Given the description of an element on the screen output the (x, y) to click on. 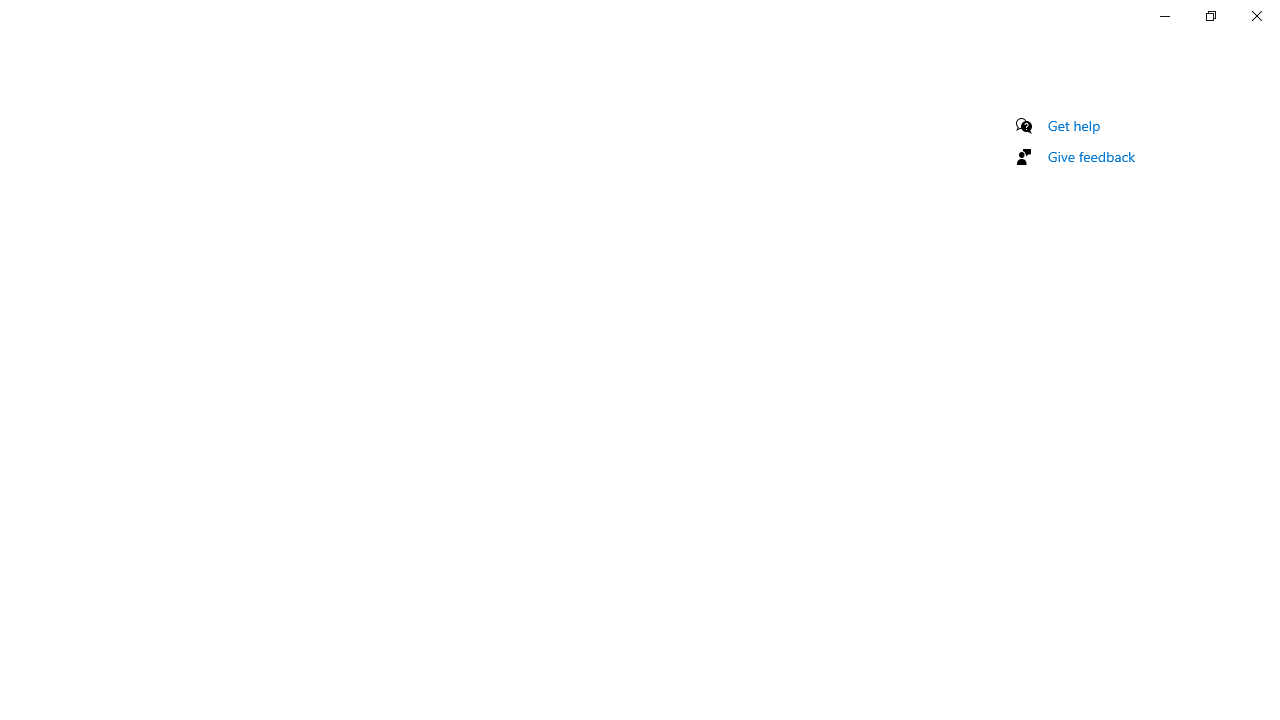
Get help (1074, 125)
Minimize Settings (1164, 15)
Give feedback (1091, 156)
Close Settings (1256, 15)
Restore Settings (1210, 15)
